Given the description of an element on the screen output the (x, y) to click on. 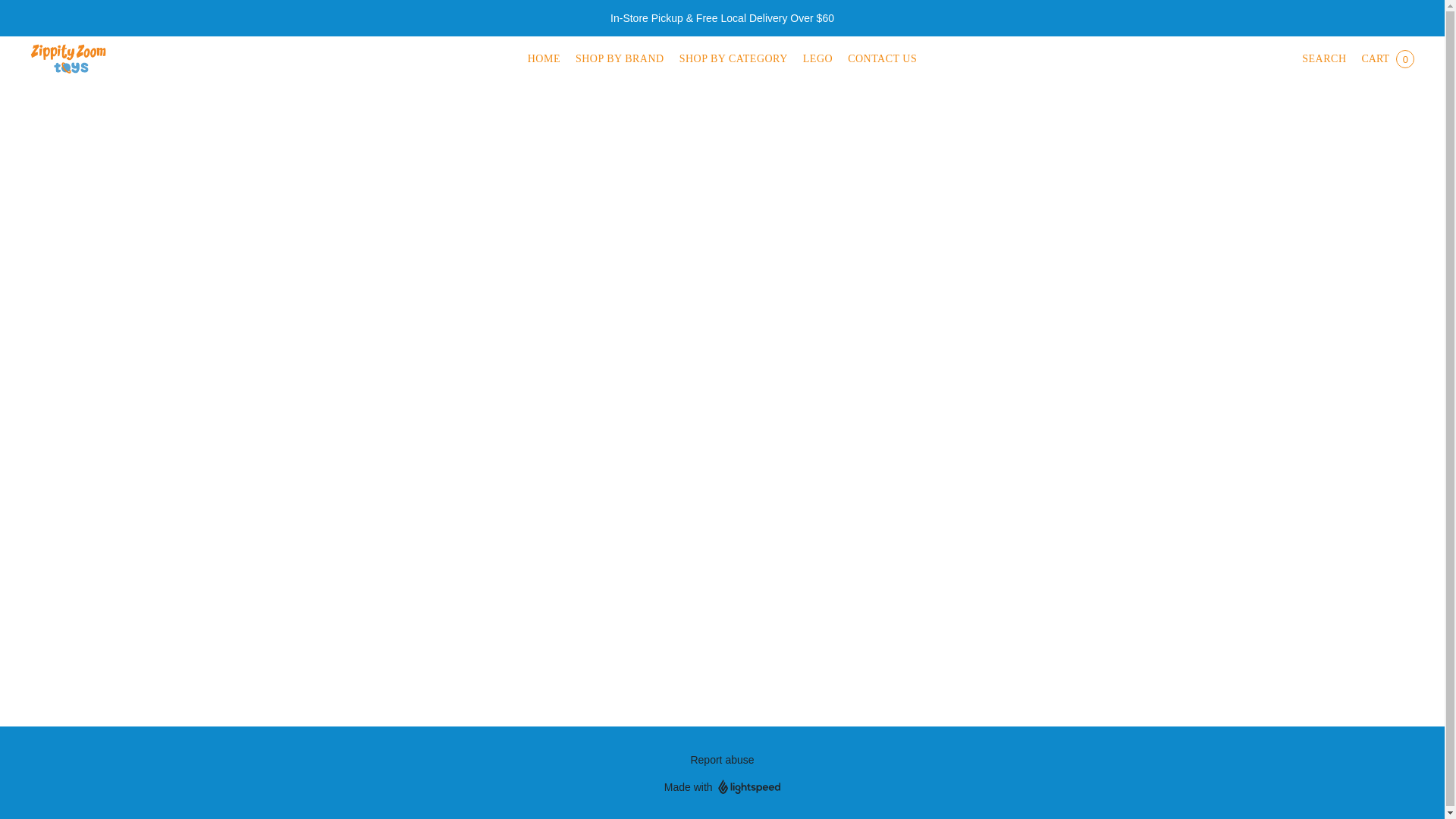
CART (1387, 59)
Report abuse (722, 760)
CONTACT US (878, 59)
LEGO (817, 59)
SHOP BY BRAND (619, 59)
SHOP BY CATEGORY (732, 59)
HOME (547, 59)
Search the website (1323, 59)
SEARCH (1323, 59)
Go to your shopping cart (1387, 59)
Made with (721, 787)
